Given the description of an element on the screen output the (x, y) to click on. 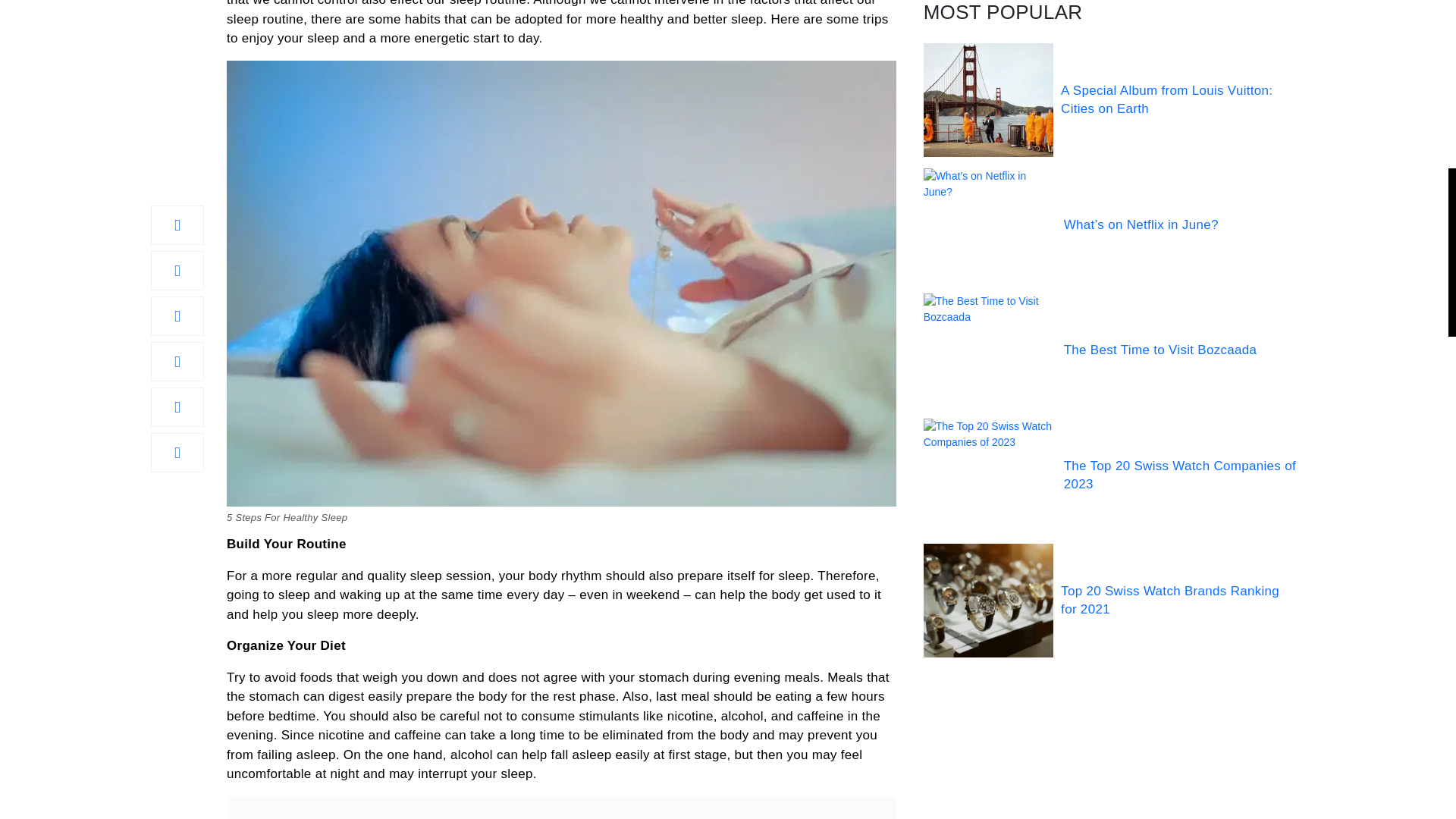
5 Steps for Healthy Sleep (561, 807)
